Given the description of an element on the screen output the (x, y) to click on. 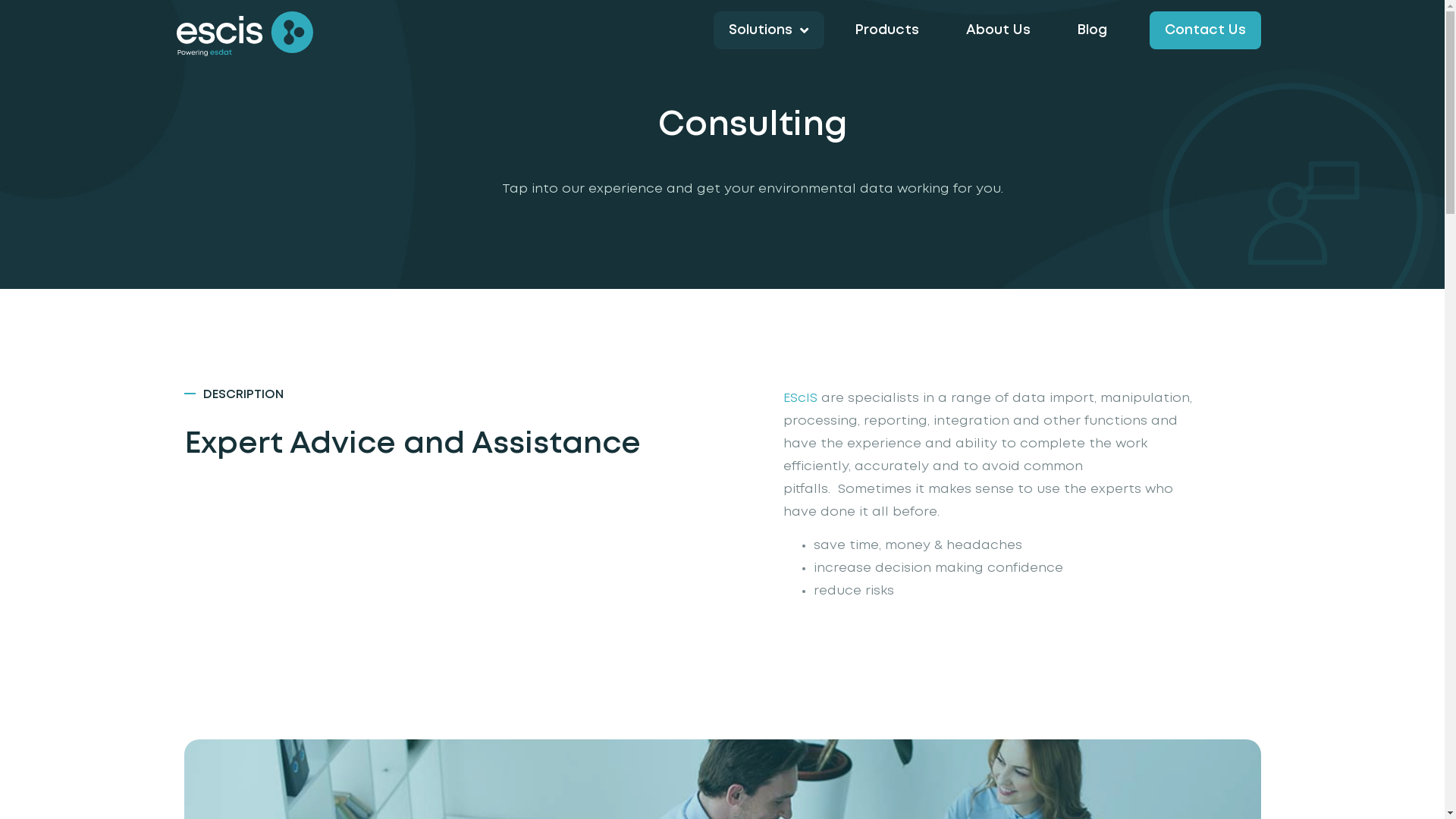
Solutions Element type: text (767, 30)
Products Element type: text (887, 30)
About Us Element type: text (997, 30)
Blog Element type: text (1091, 30)
Contact Us Element type: text (1205, 30)
